Given the description of an element on the screen output the (x, y) to click on. 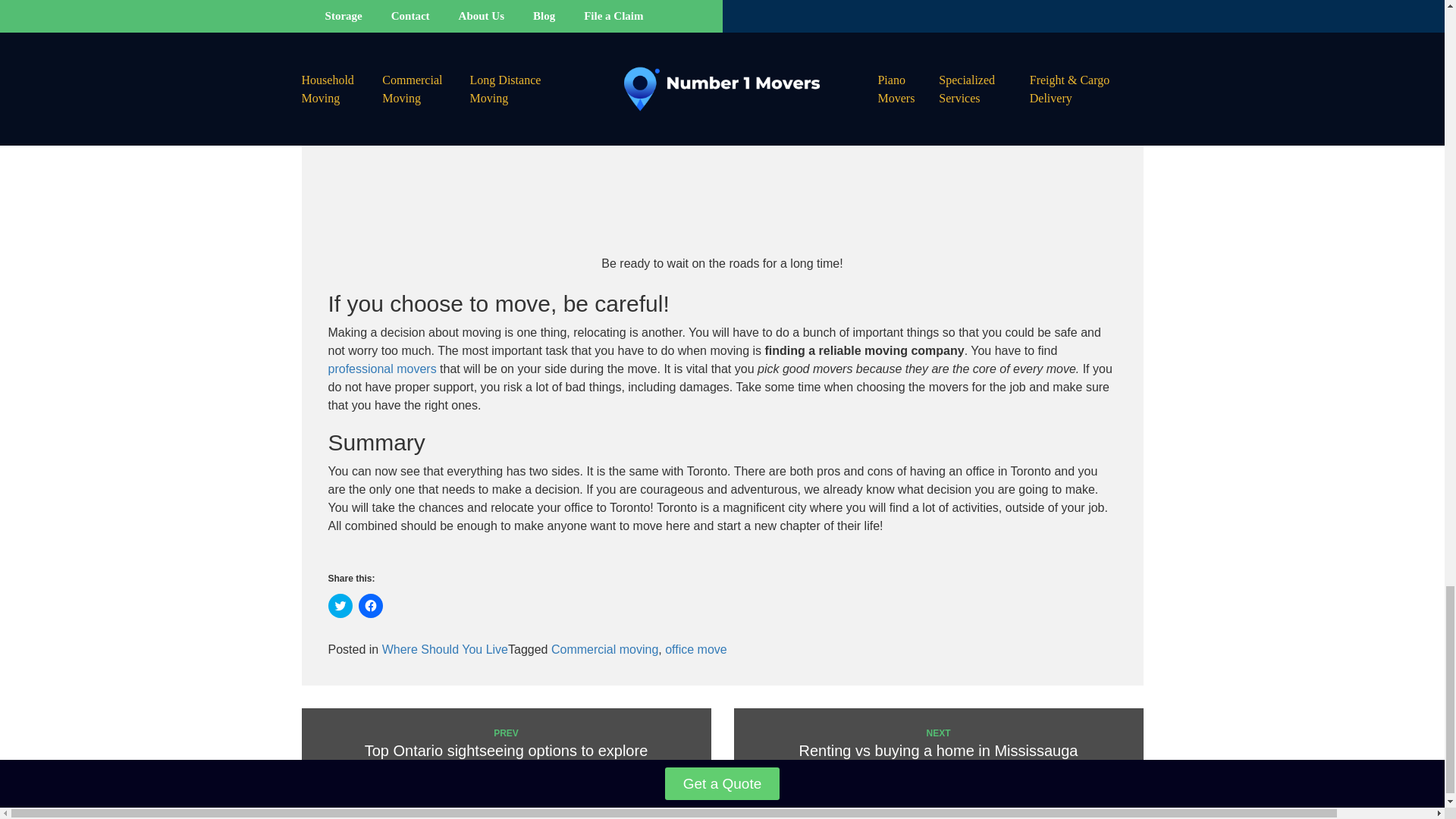
professional movers (381, 368)
Click to share on Facebook (369, 605)
Commercial moving (604, 649)
office move (695, 649)
Click to share on Twitter (339, 605)
Where Should You Live (937, 744)
